Given the description of an element on the screen output the (x, y) to click on. 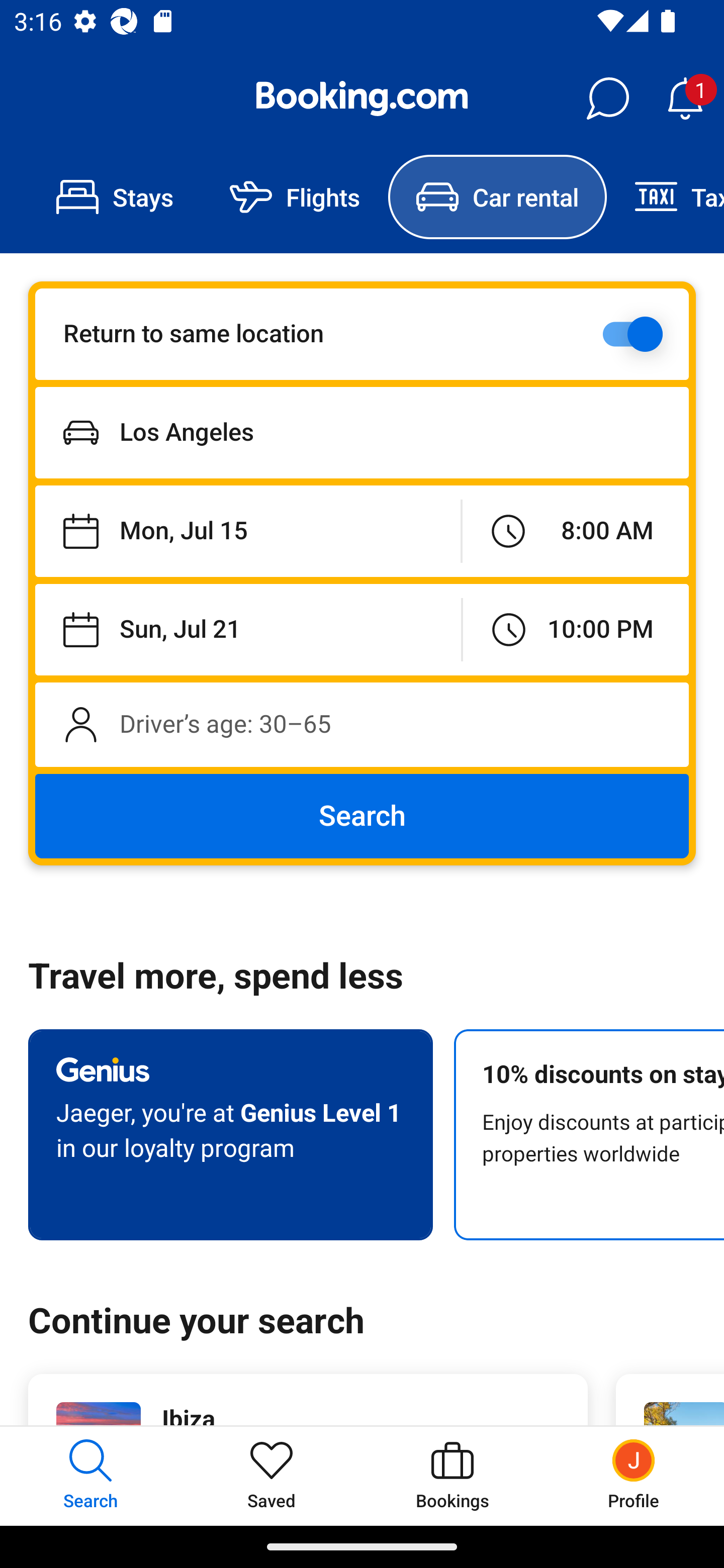
Messages (607, 98)
Notifications (685, 98)
Stays (114, 197)
Flights (294, 197)
Car rental (497, 197)
Taxi (665, 197)
Pick-up location: Text(name=Los Angeles) (361, 432)
Pick-up date: 2024-07-15 (247, 531)
Pick-up time: 08:00:00.000 (575, 531)
Drop-off date: 2024-07-21 (248, 629)
Drop-off time: 22:00:00.000 (575, 629)
Enter the driver's age (361, 724)
Search (361, 815)
Saved (271, 1475)
Bookings (452, 1475)
Profile (633, 1475)
